Given the description of an element on the screen output the (x, y) to click on. 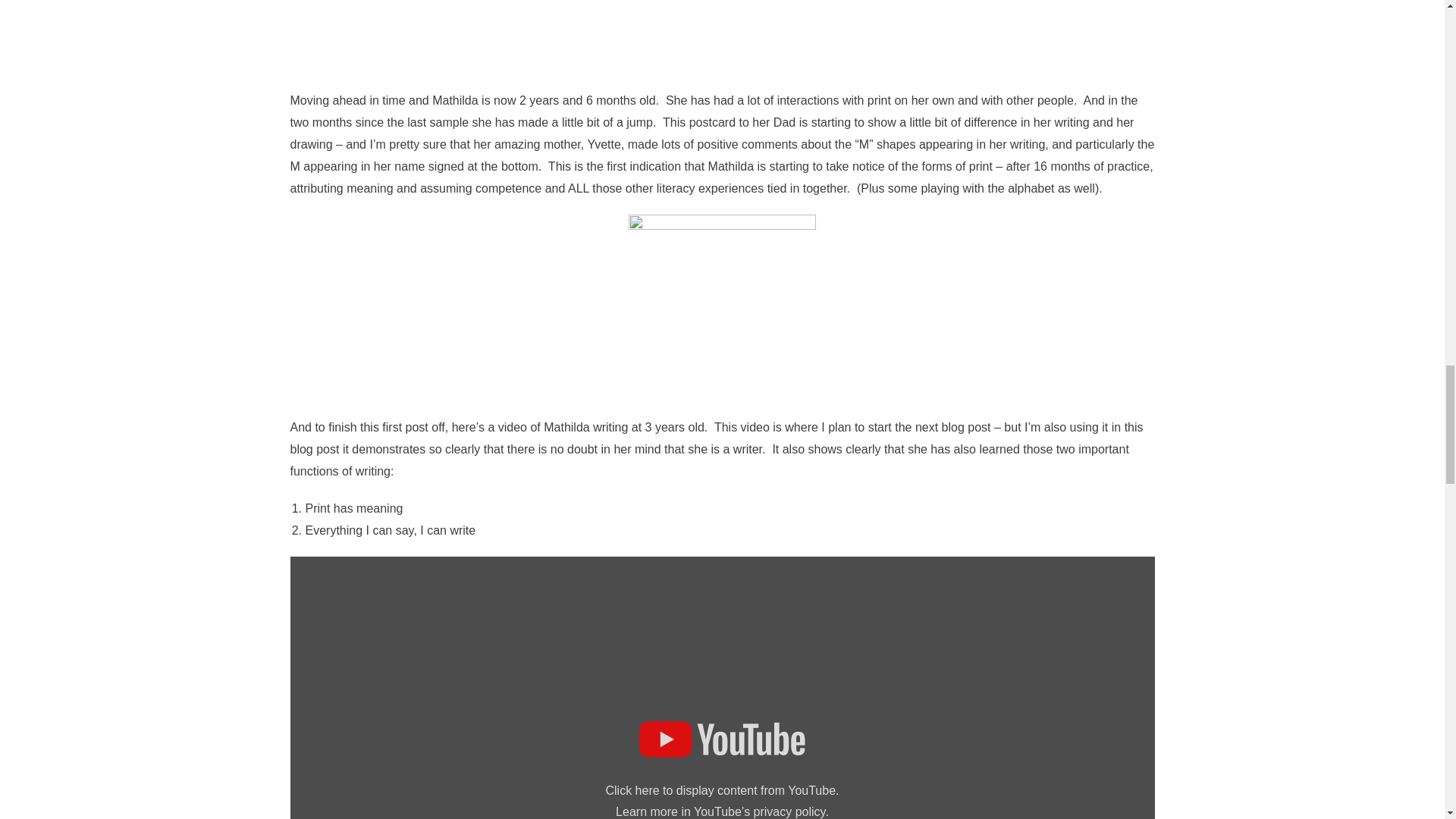
privacy policy (789, 811)
